Given the description of an element on the screen output the (x, y) to click on. 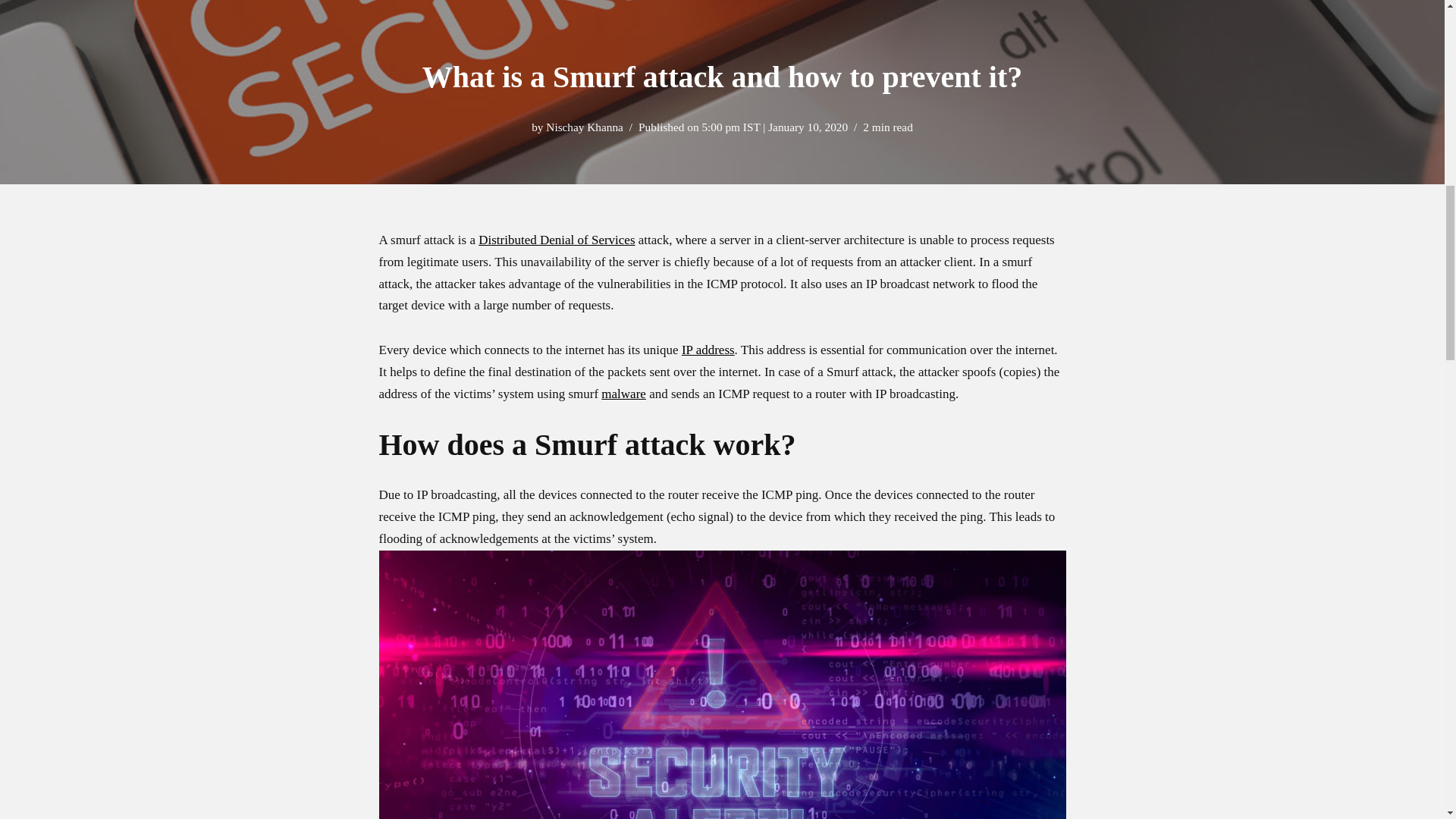
Posts by Nischay Khanna (584, 126)
